Given the description of an element on the screen output the (x, y) to click on. 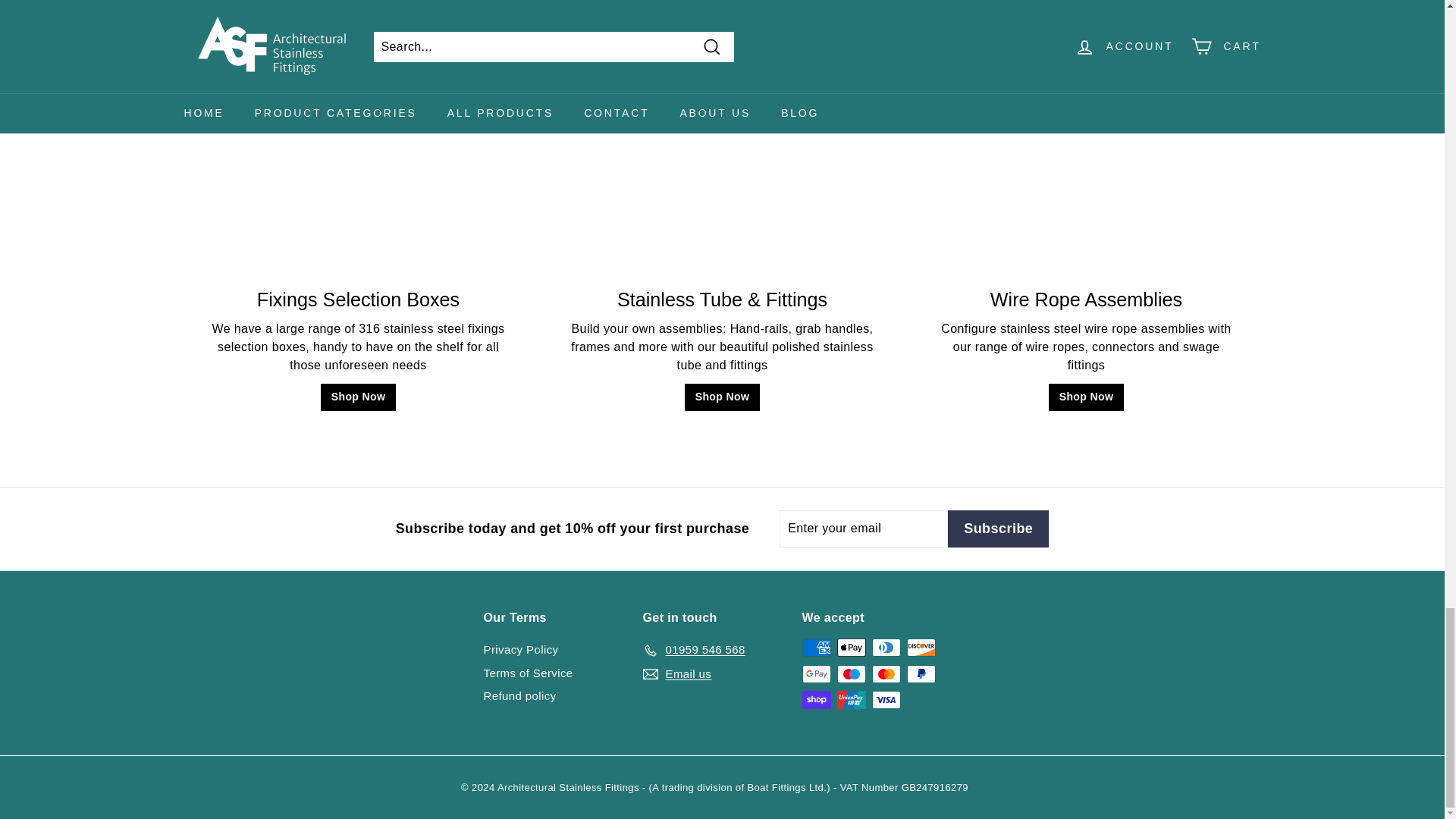
Apple Pay (851, 647)
American Express (816, 647)
Discover (921, 647)
Maestro (851, 674)
Mastercard (886, 674)
Shop Pay (816, 700)
PayPal (921, 674)
Union Pay (851, 700)
Diners Club (886, 647)
Google Pay (816, 674)
